Given the description of an element on the screen output the (x, y) to click on. 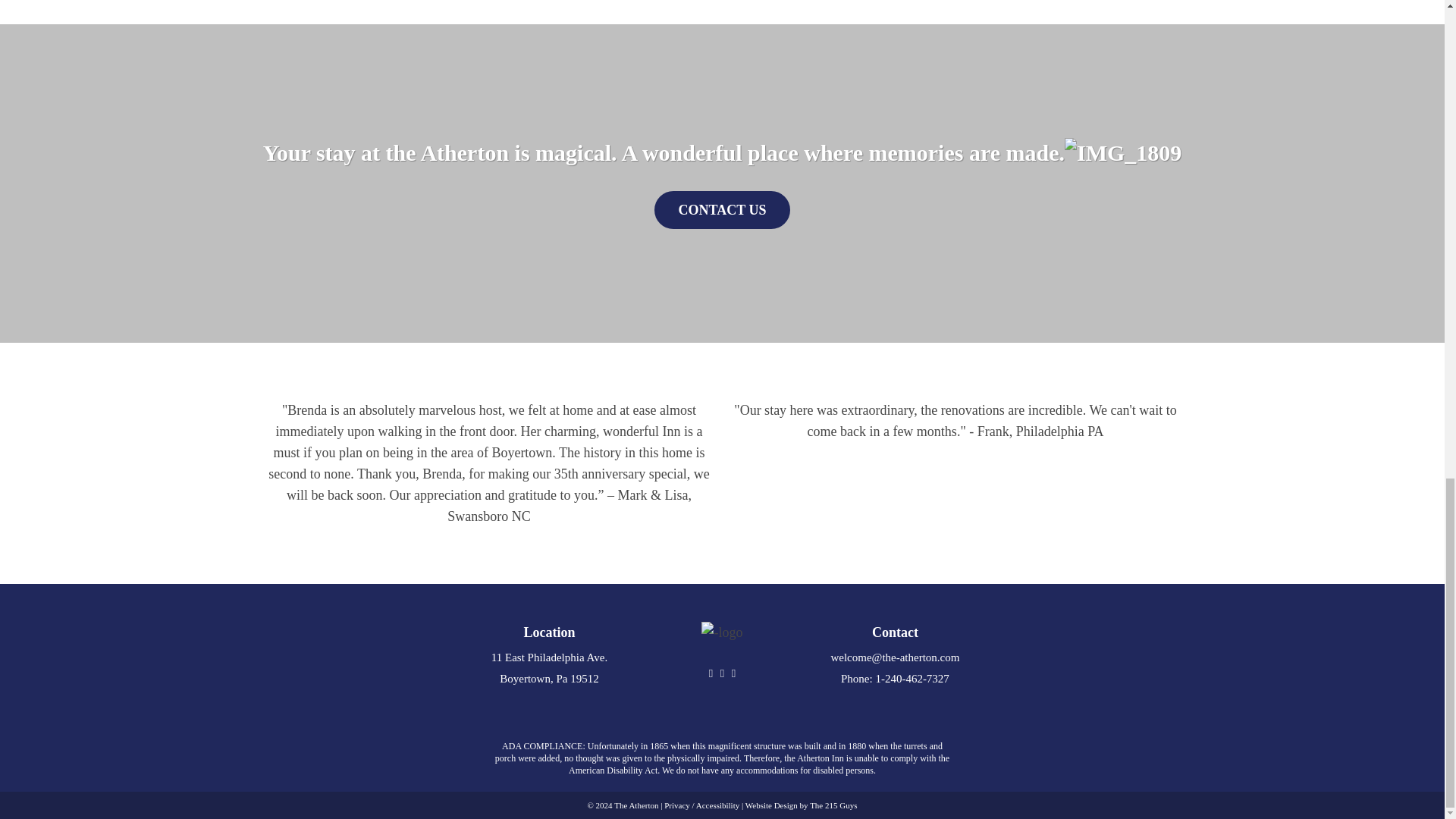
Boyertown, Pa 19512 (548, 678)
11 East Philadelphia Ave. (549, 657)
Phone: 1-240-462-7327 (895, 678)
Website Design (771, 804)
Accessibility (717, 804)
CONTACT US (721, 209)
Privacy (676, 804)
